Given the description of an element on the screen output the (x, y) to click on. 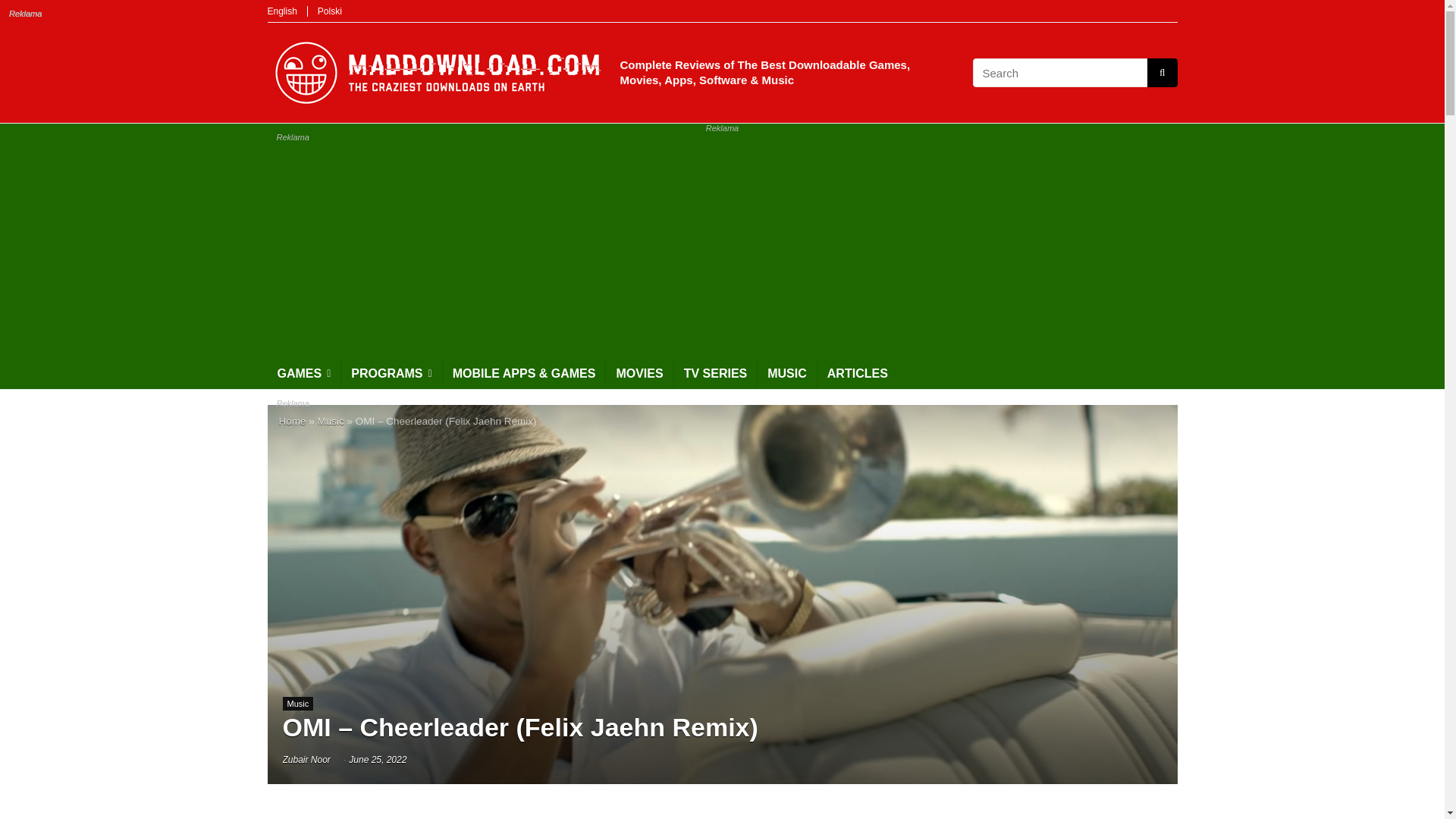
View all posts in Music (297, 703)
TV SERIES (715, 374)
Polski (329, 10)
English (281, 10)
MUSIC (786, 374)
Music (297, 703)
ARTICLES (857, 374)
Home (292, 420)
Music (330, 420)
